Given the description of an element on the screen output the (x, y) to click on. 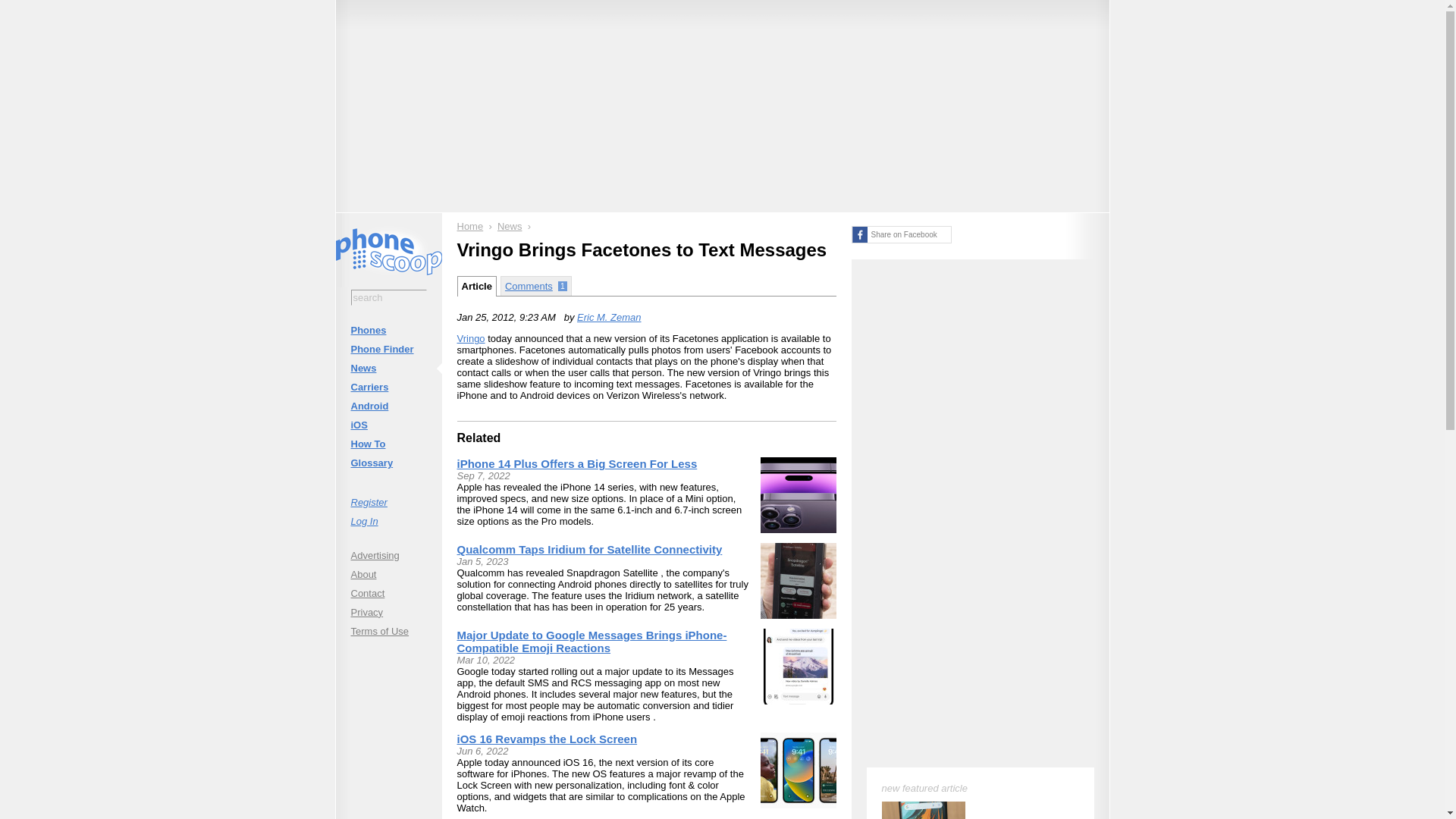
Share on Facebook (900, 234)
Glossary (387, 462)
Phones (387, 330)
iOS (387, 424)
Comments  1 (536, 285)
Contact (387, 592)
Register (387, 502)
News (509, 225)
News (387, 367)
Terms of Use (387, 630)
Related (478, 437)
How To (387, 443)
Home (470, 225)
Log In (387, 520)
